Given the description of an element on the screen output the (x, y) to click on. 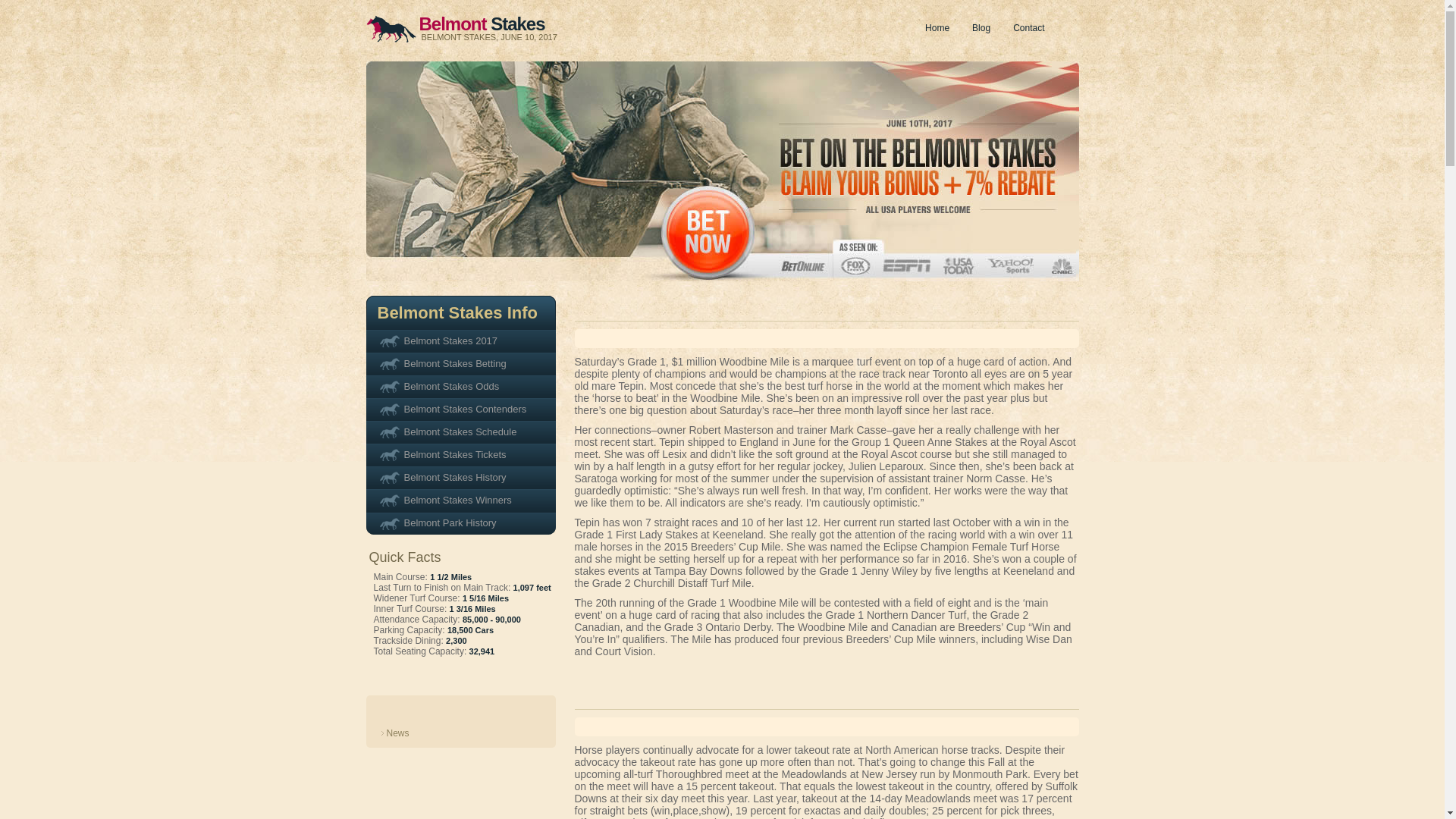
Blog (981, 27)
Belmont Stakes Betting (459, 363)
Belmont Stakes History (459, 477)
Home (936, 27)
Belmont Park History (459, 522)
Contact (1028, 27)
Belmont Stakes Tickets (459, 454)
Belmont Stakes Contenders (459, 409)
Belmont Stakes Odds (459, 386)
Belmont Stakes Schedule (459, 431)
